Given the description of an element on the screen output the (x, y) to click on. 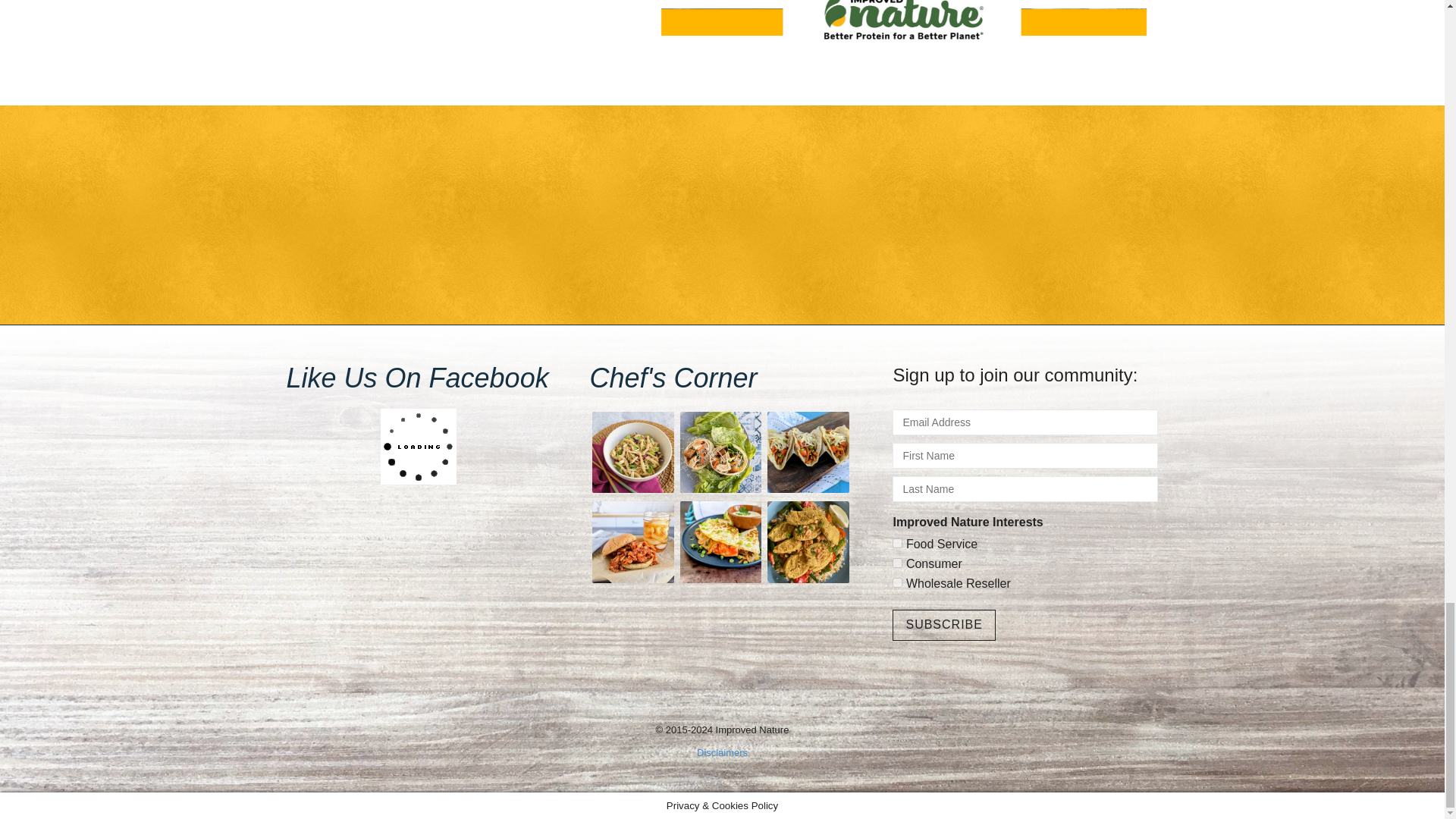
Disclaimers (722, 752)
2 (897, 562)
1 (897, 542)
4 (897, 583)
Subscribe (943, 624)
Subscribe (943, 624)
